Given the description of an element on the screen output the (x, y) to click on. 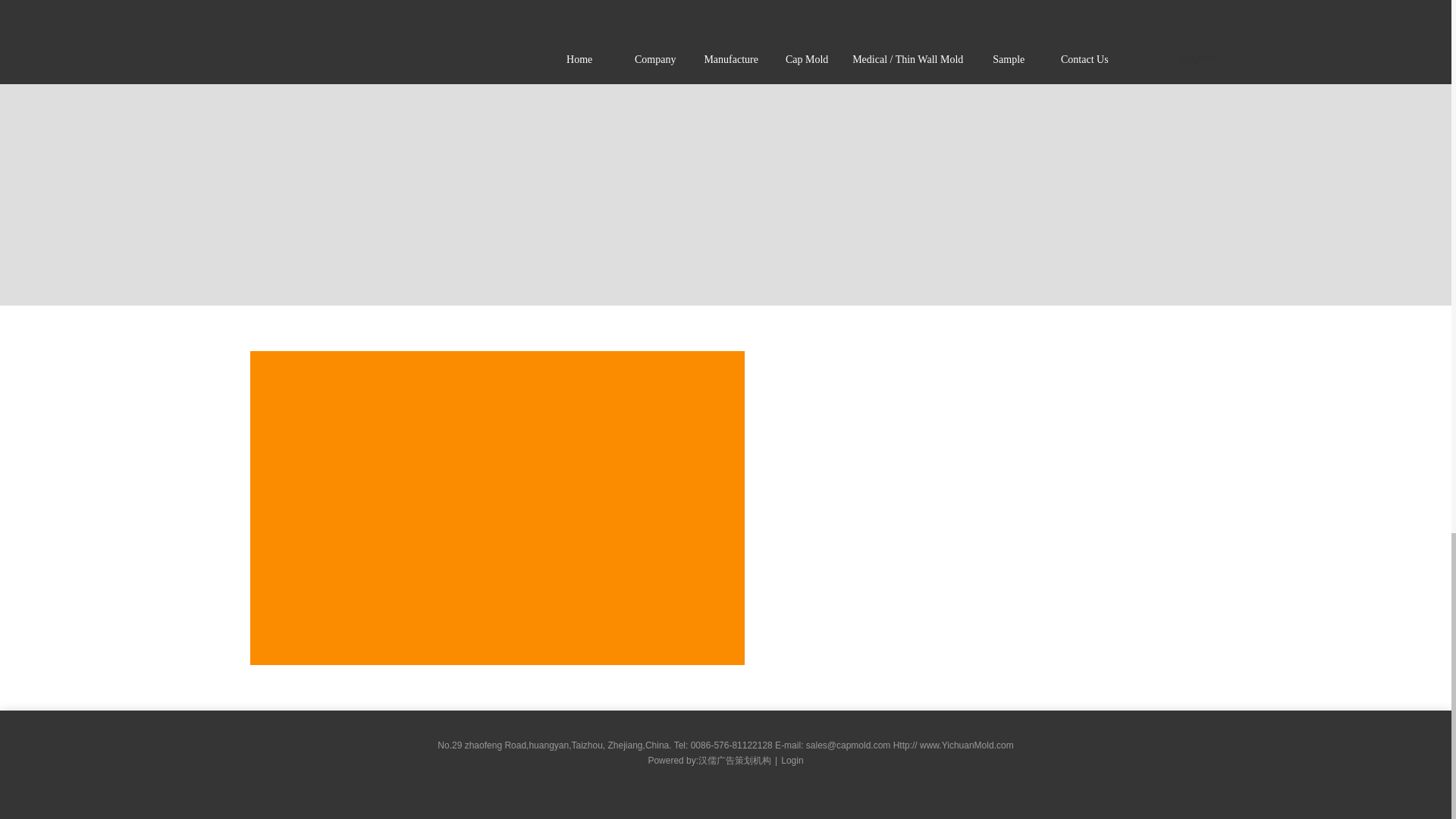
Login (787, 759)
